Given the description of an element on the screen output the (x, y) to click on. 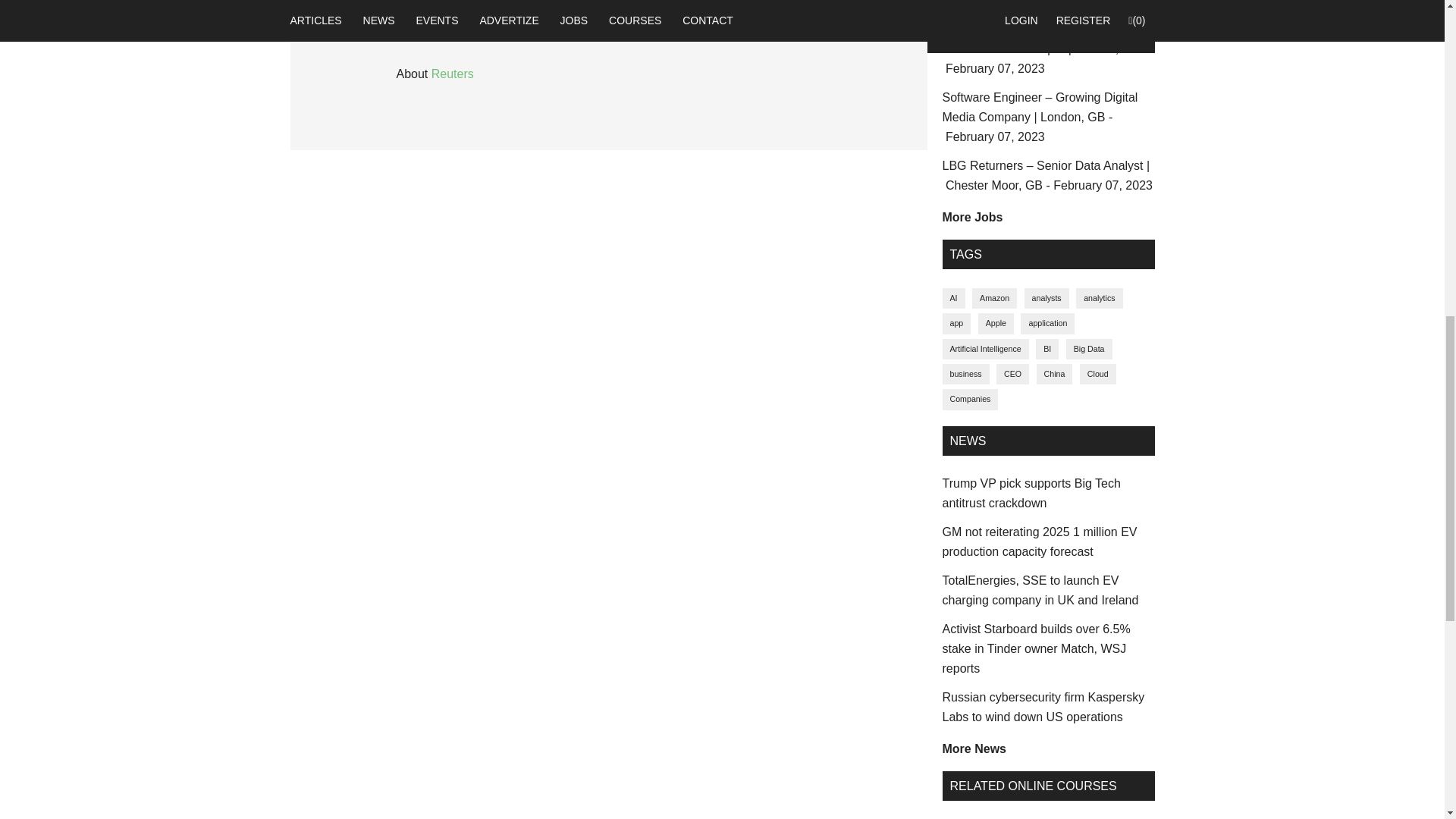
Trump VP pick supports Big Tech antitrust crackdown (1030, 492)
Senior Java Developer (1044, 58)
